Given the description of an element on the screen output the (x, y) to click on. 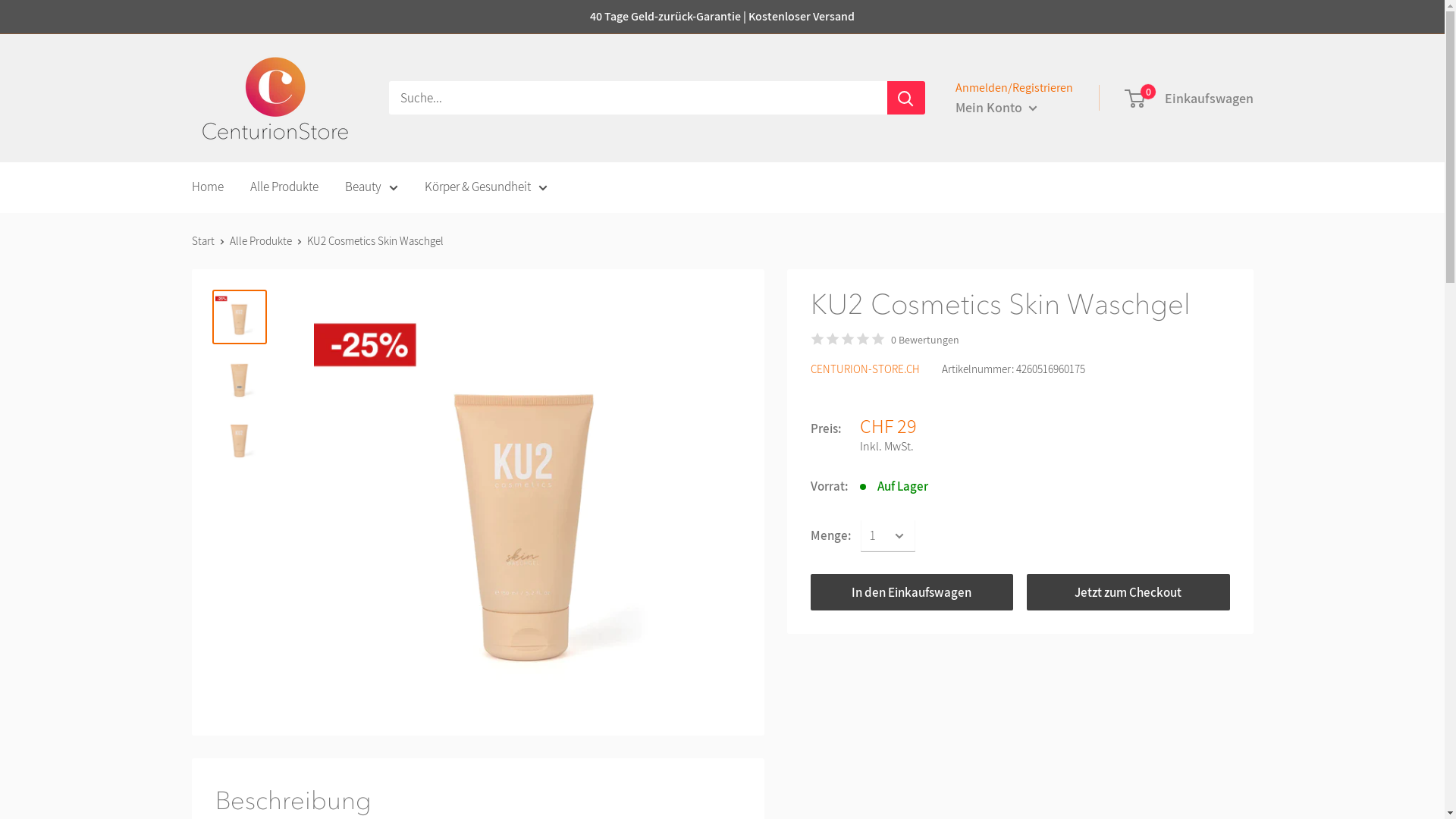
Beauty Element type: text (370, 187)
Mein Konto Element type: text (996, 107)
In den Einkaufswagen Element type: text (911, 592)
Jetzt zum Checkout Element type: text (1128, 592)
Home Element type: text (206, 187)
Alle Produkte Element type: text (260, 240)
0
Einkaufswagen Element type: text (1188, 98)
Alle Produkte Element type: text (284, 187)
CENTURION-STORE.CH Element type: text (864, 368)
Start Element type: text (202, 240)
